Given the description of an element on the screen output the (x, y) to click on. 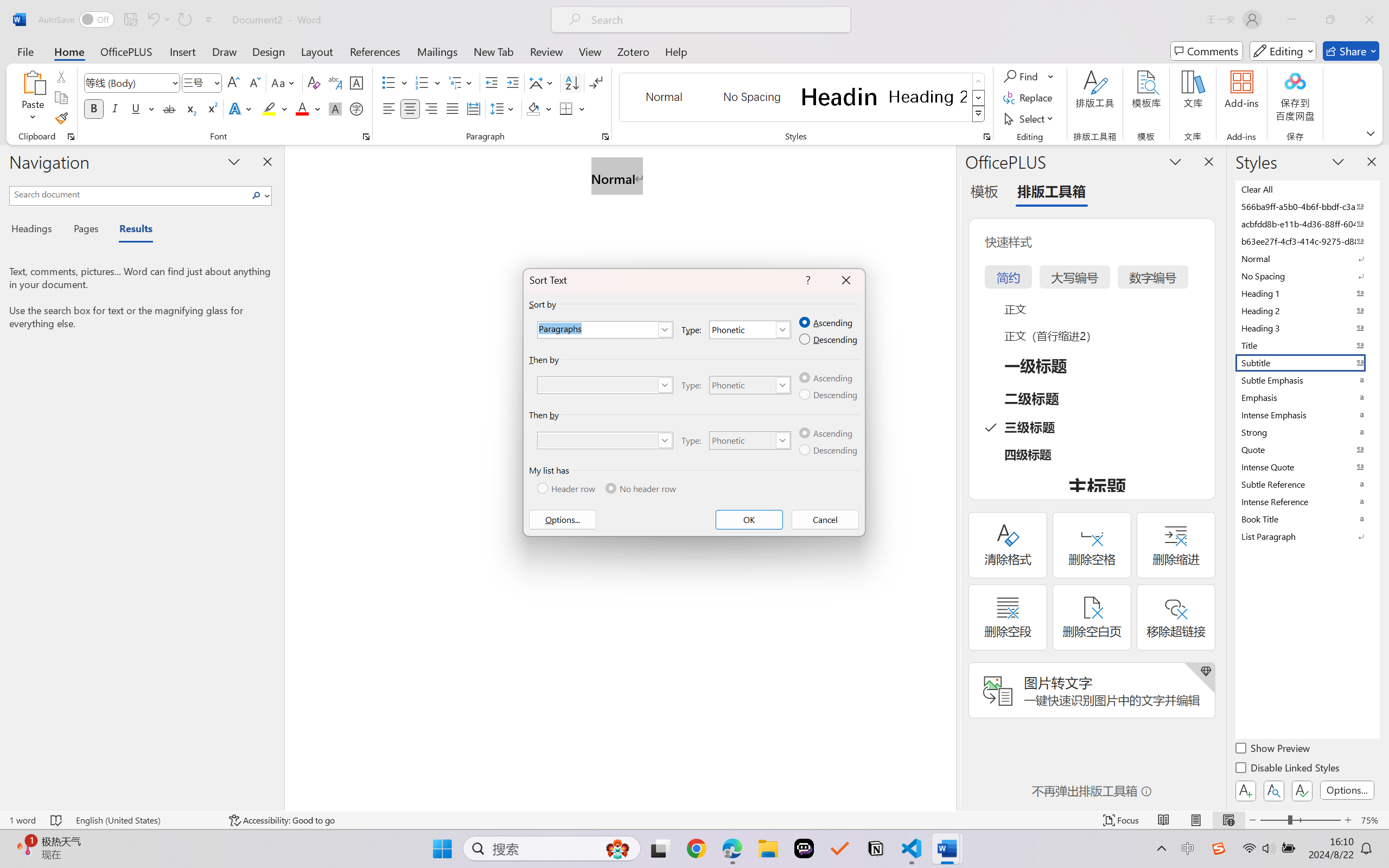
Type: (750, 440)
Options... (562, 519)
Intense Emphasis (1306, 414)
Heading 3 (1306, 327)
Ascending (826, 433)
Accessibility Checker Accessibility: Good to go (282, 819)
Quote (1306, 449)
Borders (571, 108)
Office Clipboard... (70, 136)
Open (215, 82)
